Given the description of an element on the screen output the (x, y) to click on. 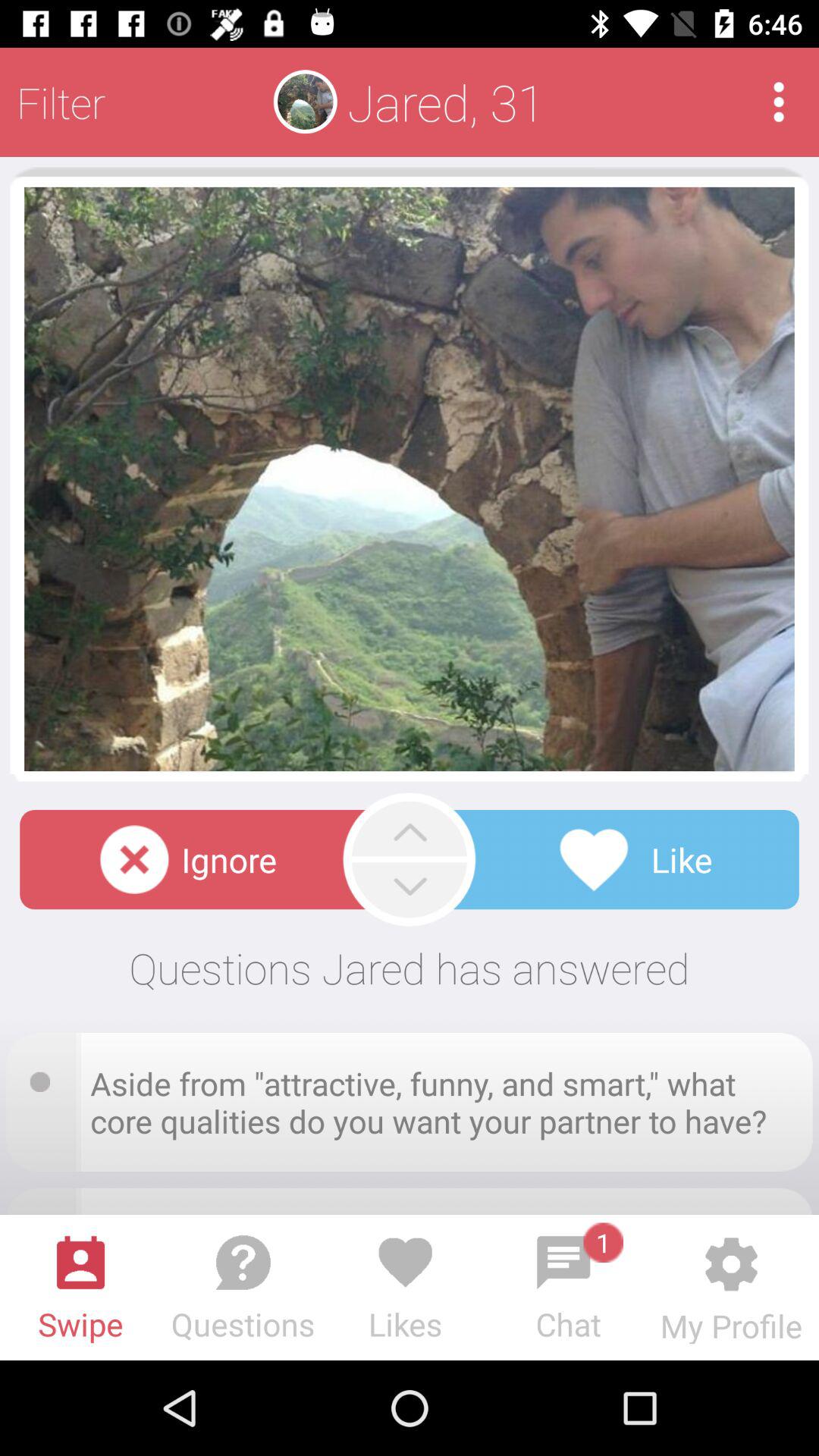
select the icon along with text on the left side of text my profile (568, 1284)
